Given the description of an element on the screen output the (x, y) to click on. 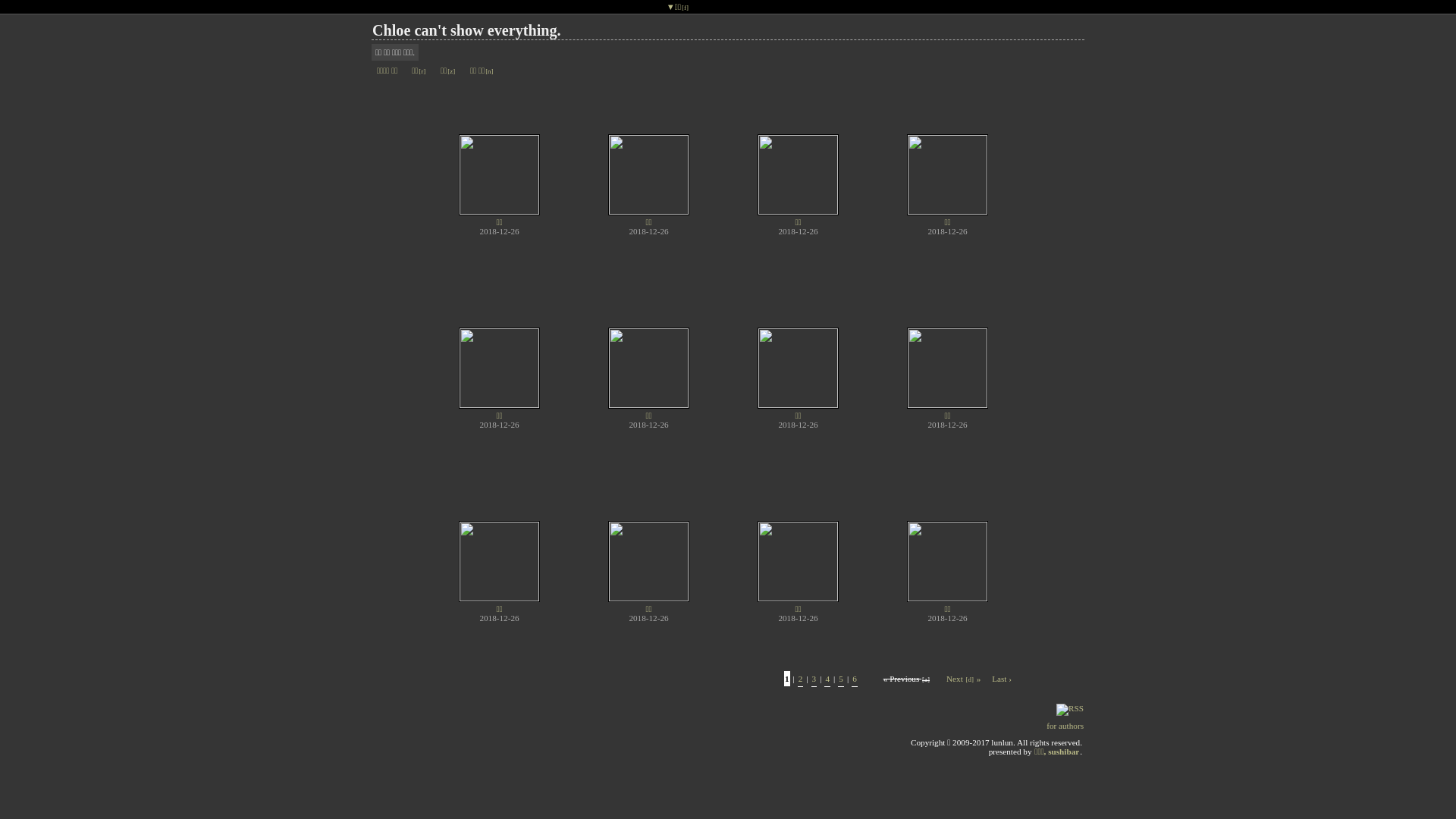
Chloe can't show everything. Element type: text (466, 30)
4 Element type: text (827, 679)
for authors Element type: text (1064, 725)
6 Element type: text (854, 679)
2 Element type: text (800, 679)
5 Element type: text (840, 679)
3 Element type: text (814, 679)
